Given the description of an element on the screen output the (x, y) to click on. 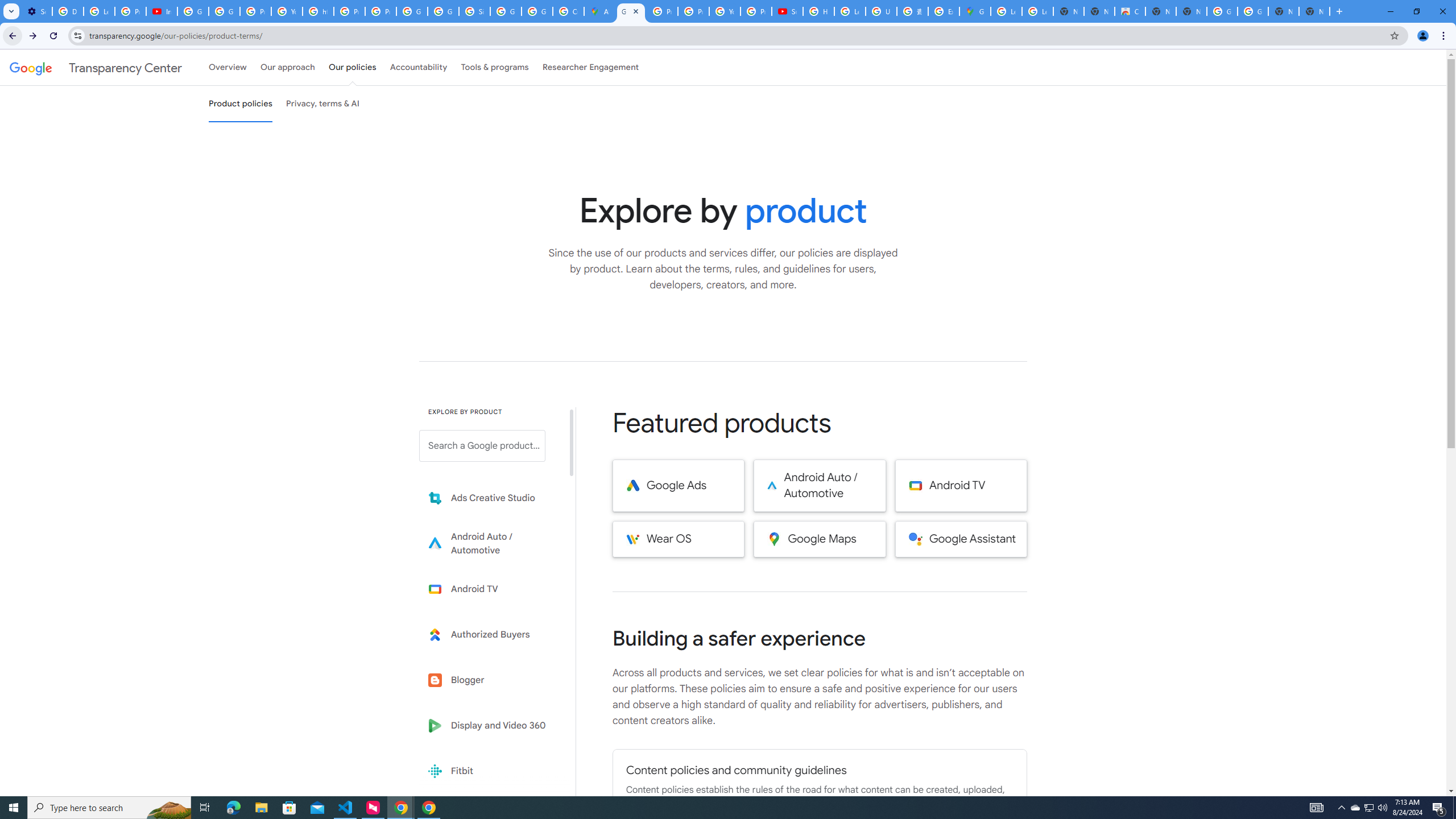
Learn more about Authorized Buyers (490, 634)
Search a Google product from below list. (481, 445)
Blogger (490, 679)
https://scholar.google.com/ (318, 11)
Fitbit (490, 770)
Learn how to find your photos - Google Photos Help (98, 11)
Google Ads (678, 485)
Android Auto / Automotive (820, 485)
Learn more about Ads Creative Studio (490, 497)
